Given the description of an element on the screen output the (x, y) to click on. 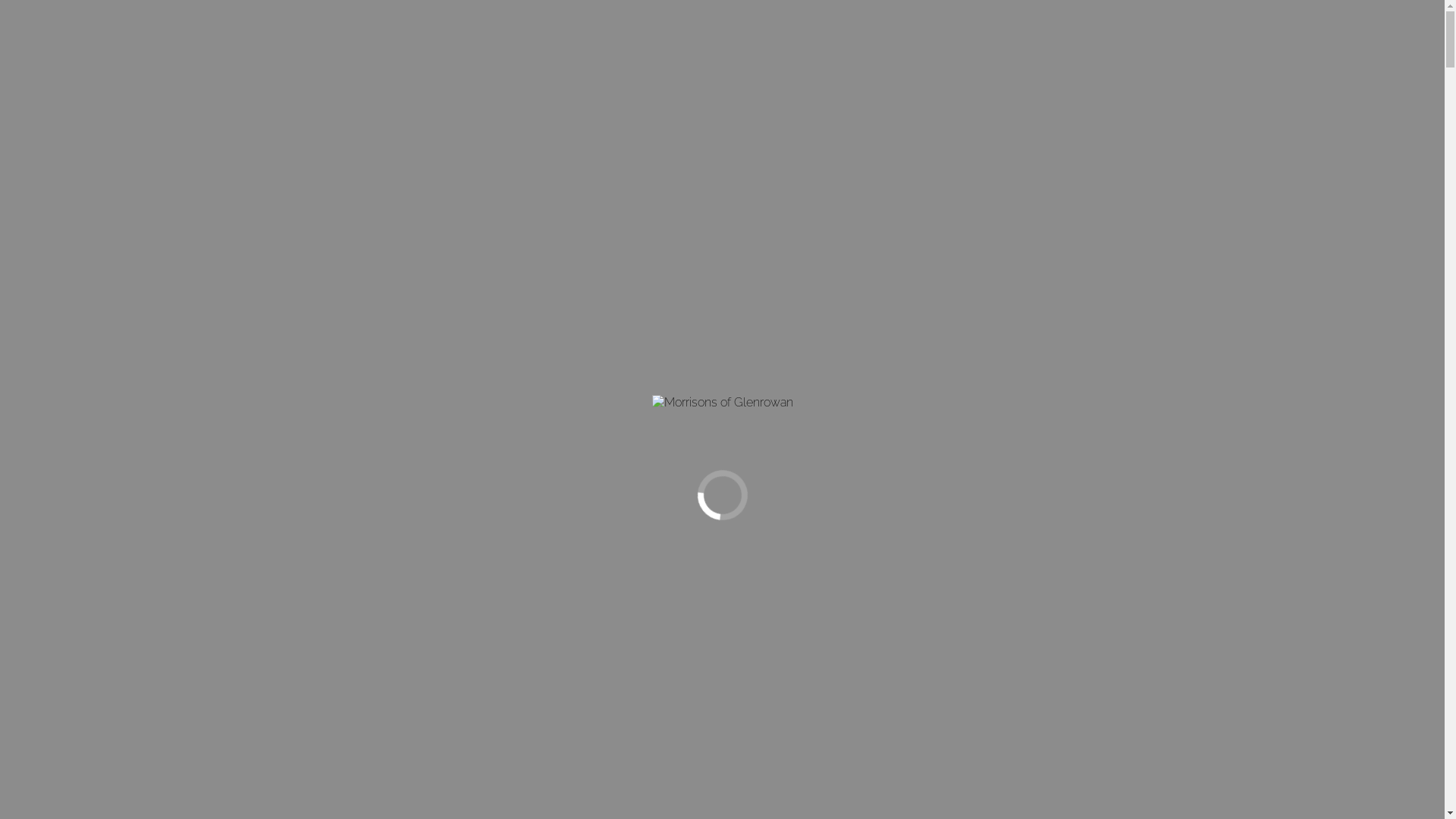
info@morrisonswinery.com.au Element type: text (143, 8)
03 5766 2734 Element type: text (40, 8)
